Given the description of an element on the screen output the (x, y) to click on. 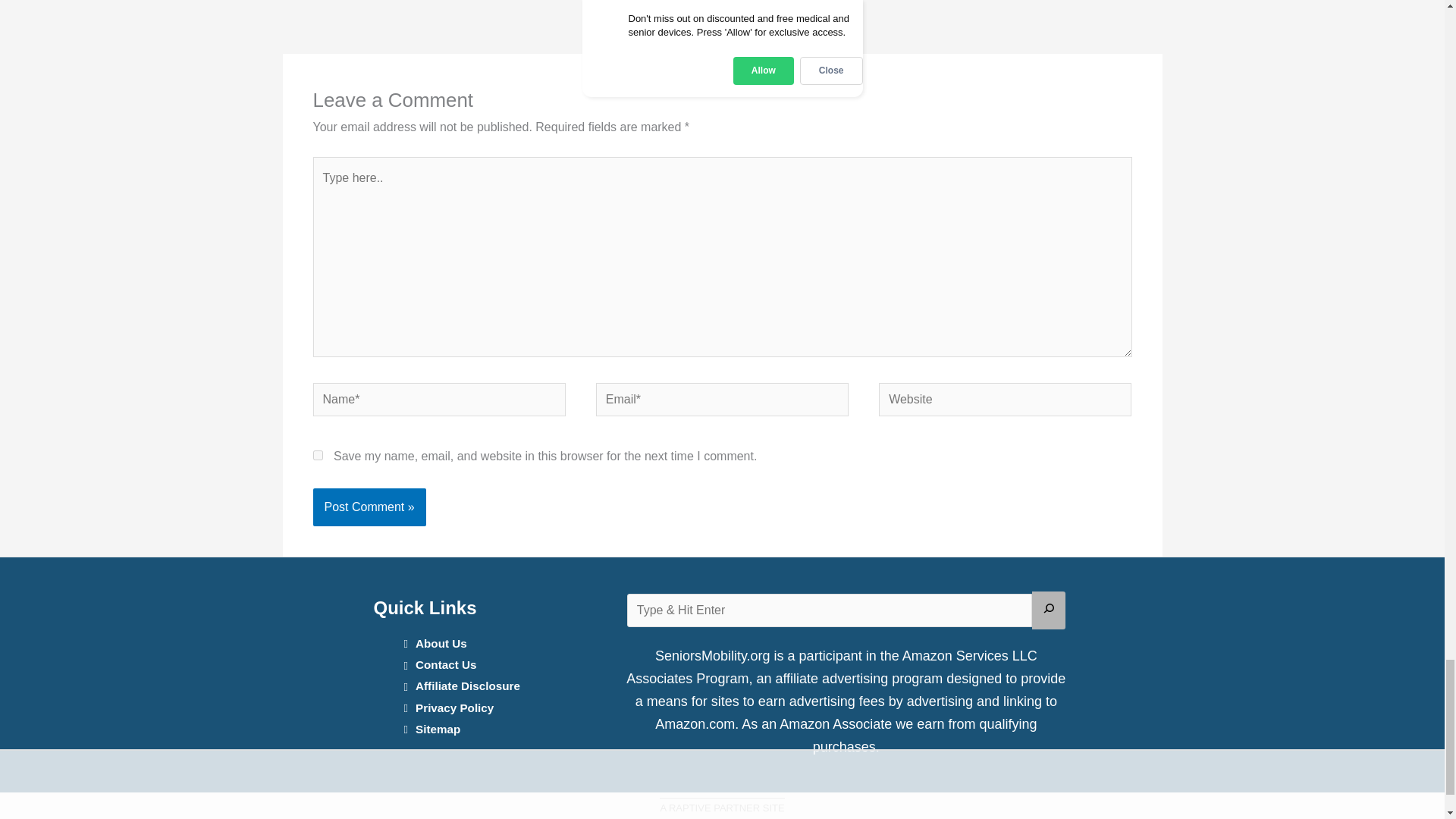
yes (317, 455)
